Given the description of an element on the screen output the (x, y) to click on. 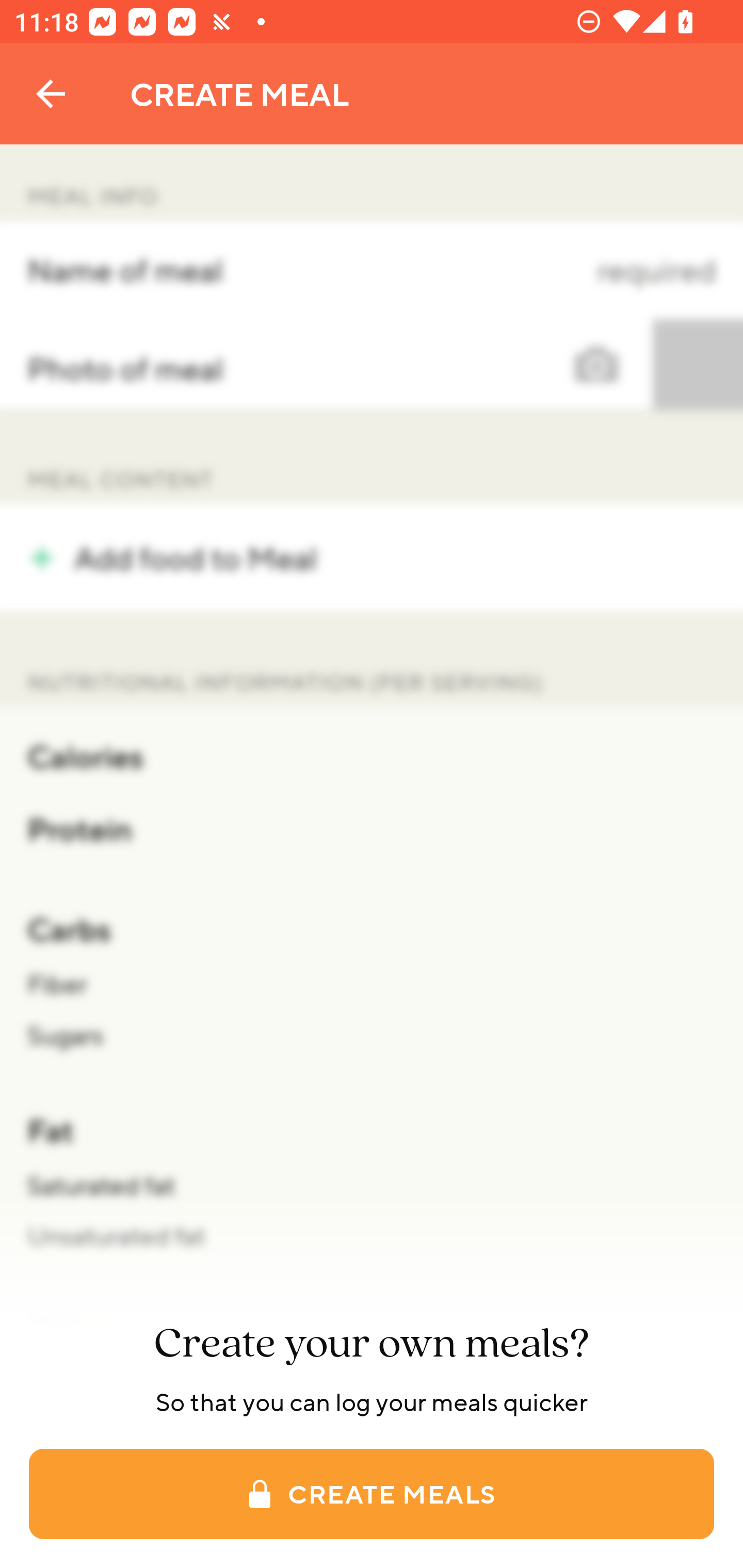
CREATE MEALS (371, 1493)
